Given the description of an element on the screen output the (x, y) to click on. 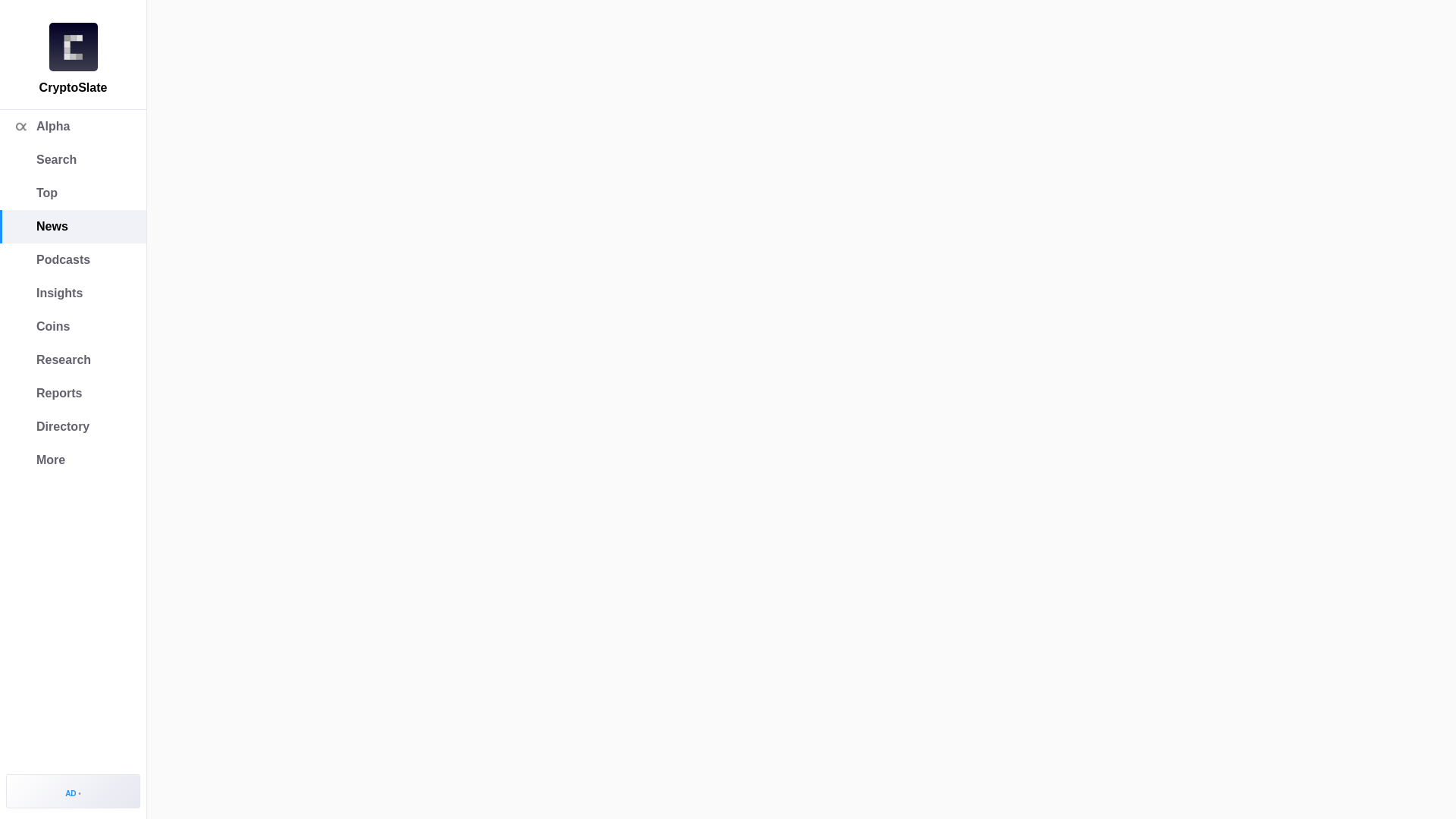
Insights (73, 293)
Top (73, 192)
Coins (73, 326)
Alpha (73, 126)
 CryptoSlate (72, 46)
Directory (73, 426)
Reports (73, 393)
Podcasts (73, 259)
AD (72, 790)
Research (73, 359)
